Given the description of an element on the screen output the (x, y) to click on. 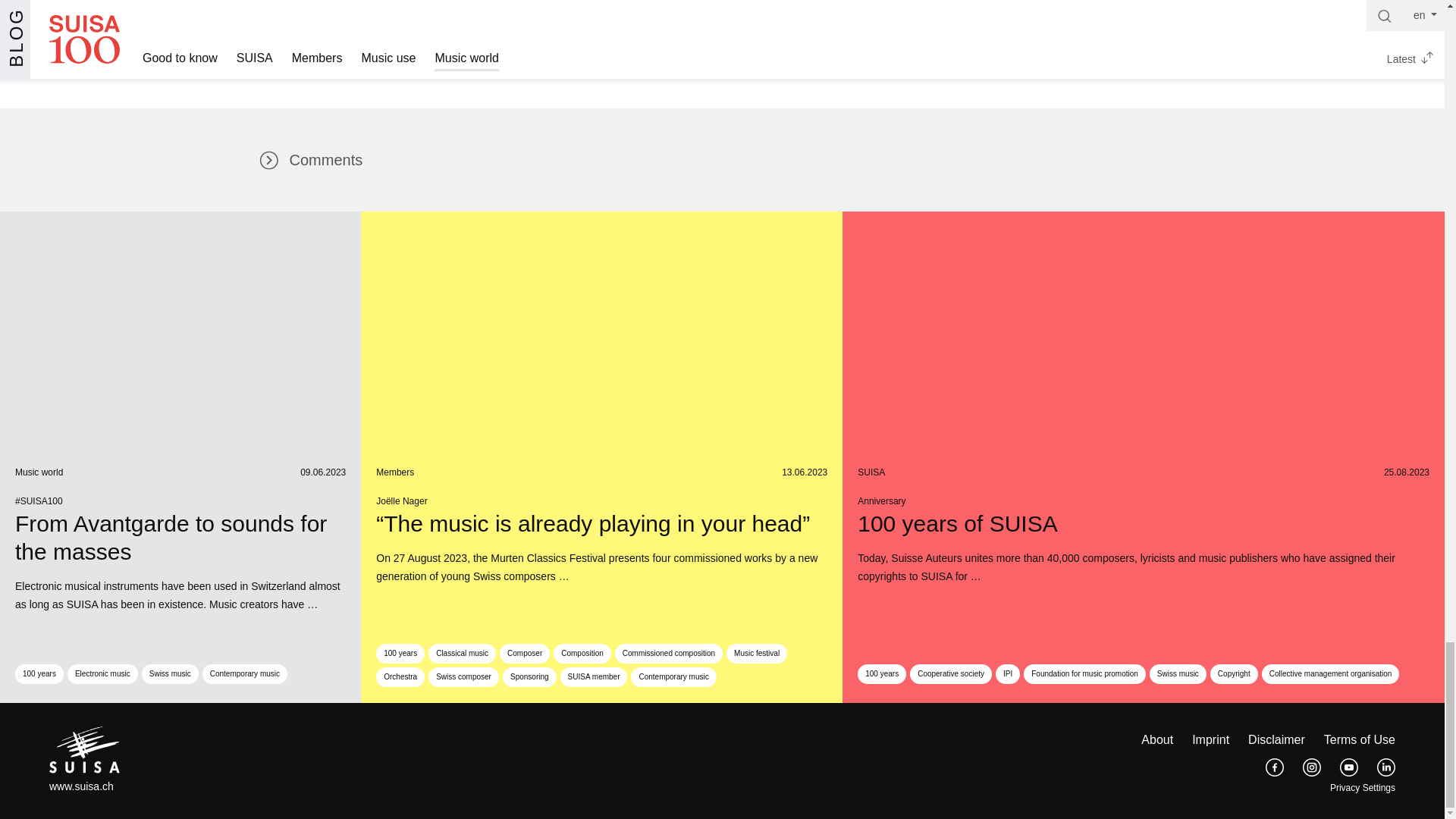
Comments (313, 159)
Music world (38, 472)
